Given the description of an element on the screen output the (x, y) to click on. 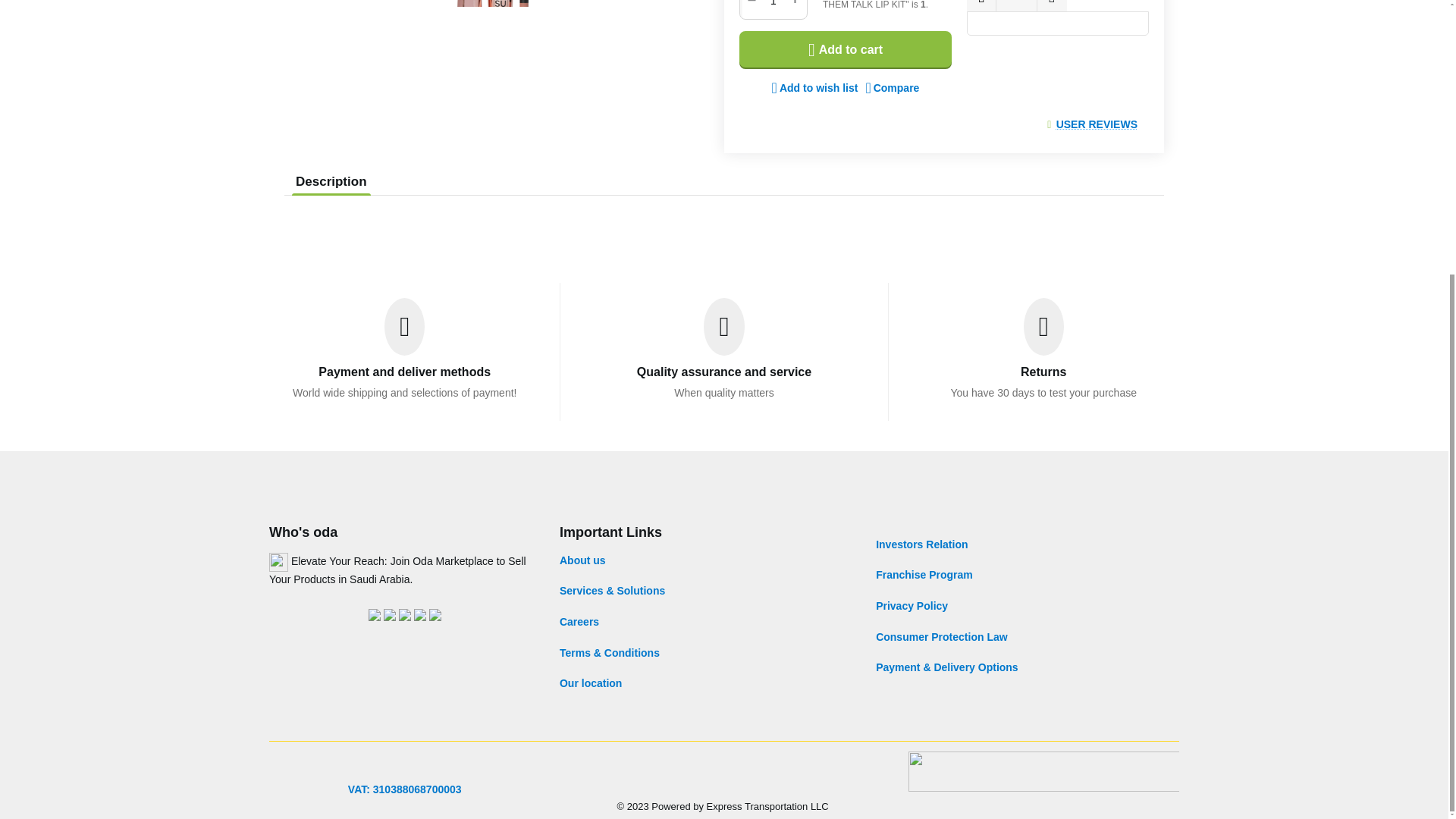
Add to comparison list (891, 87)
1 (772, 7)
Compare (891, 87)
Add to cart (845, 49)
Add to wishlist (815, 87)
USER REVIEWS (1097, 123)
Add to wish list (815, 87)
